Given the description of an element on the screen output the (x, y) to click on. 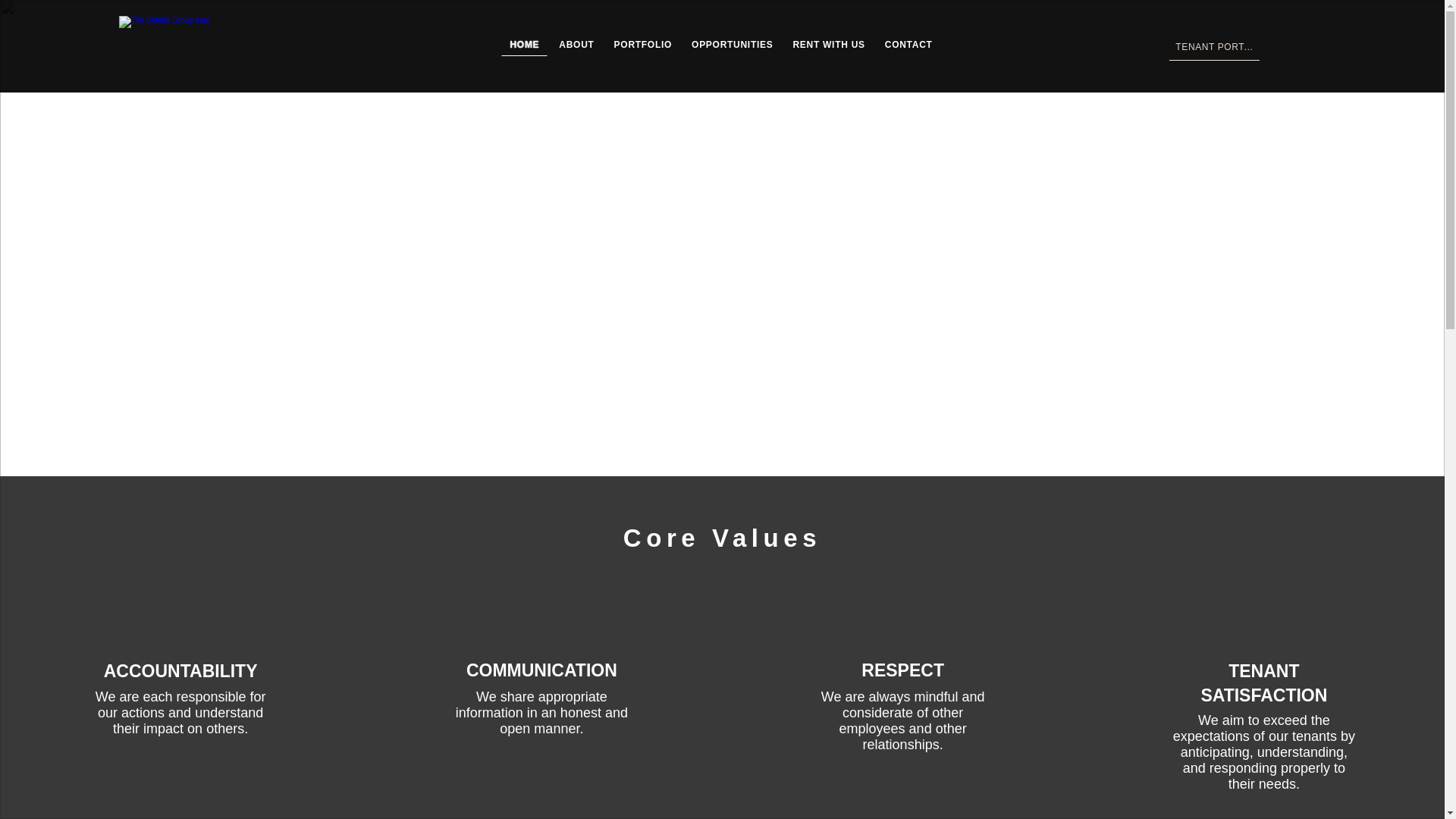
CONTACT (908, 45)
HOME (523, 45)
RENT WITH US (828, 45)
PORTFOLIO (642, 45)
TENANT PORTAL (1214, 47)
OPPORTUNITIES (731, 45)
ABOUT (576, 45)
